Given the description of an element on the screen output the (x, y) to click on. 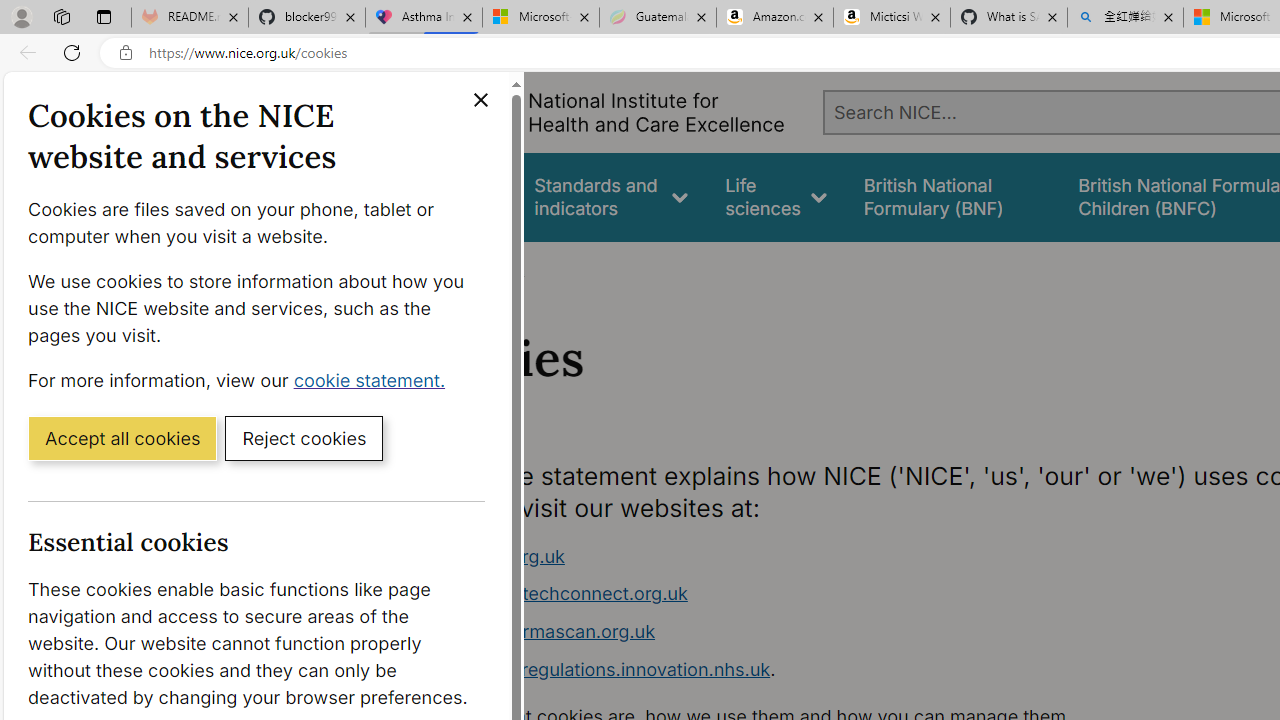
Guidance (458, 196)
www.healthtechconnect.org.uk (554, 593)
www.nice.org.uk (492, 556)
